Given the description of an element on the screen output the (x, y) to click on. 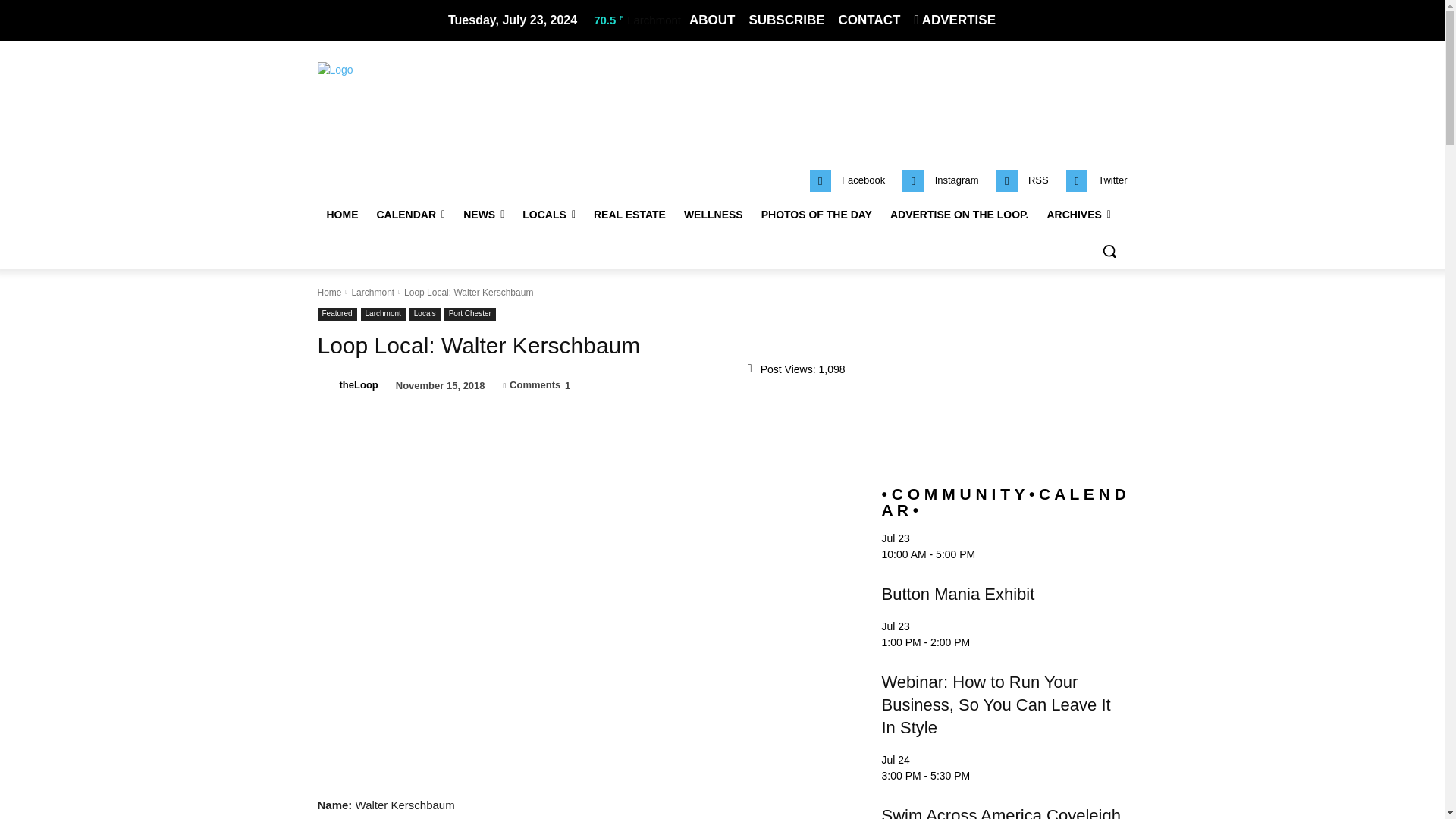
ABOUT (711, 20)
NEWS (483, 213)
RSS (1006, 180)
Facebook (863, 179)
CALENDAR (410, 213)
Twitter (1111, 179)
Facebook (820, 180)
Instagram (956, 179)
SUBSCRIBE (786, 20)
RSS (1037, 179)
Twitter (1076, 180)
HOME (341, 213)
Instagram (913, 180)
CONTACT (869, 20)
